Given the description of an element on the screen output the (x, y) to click on. 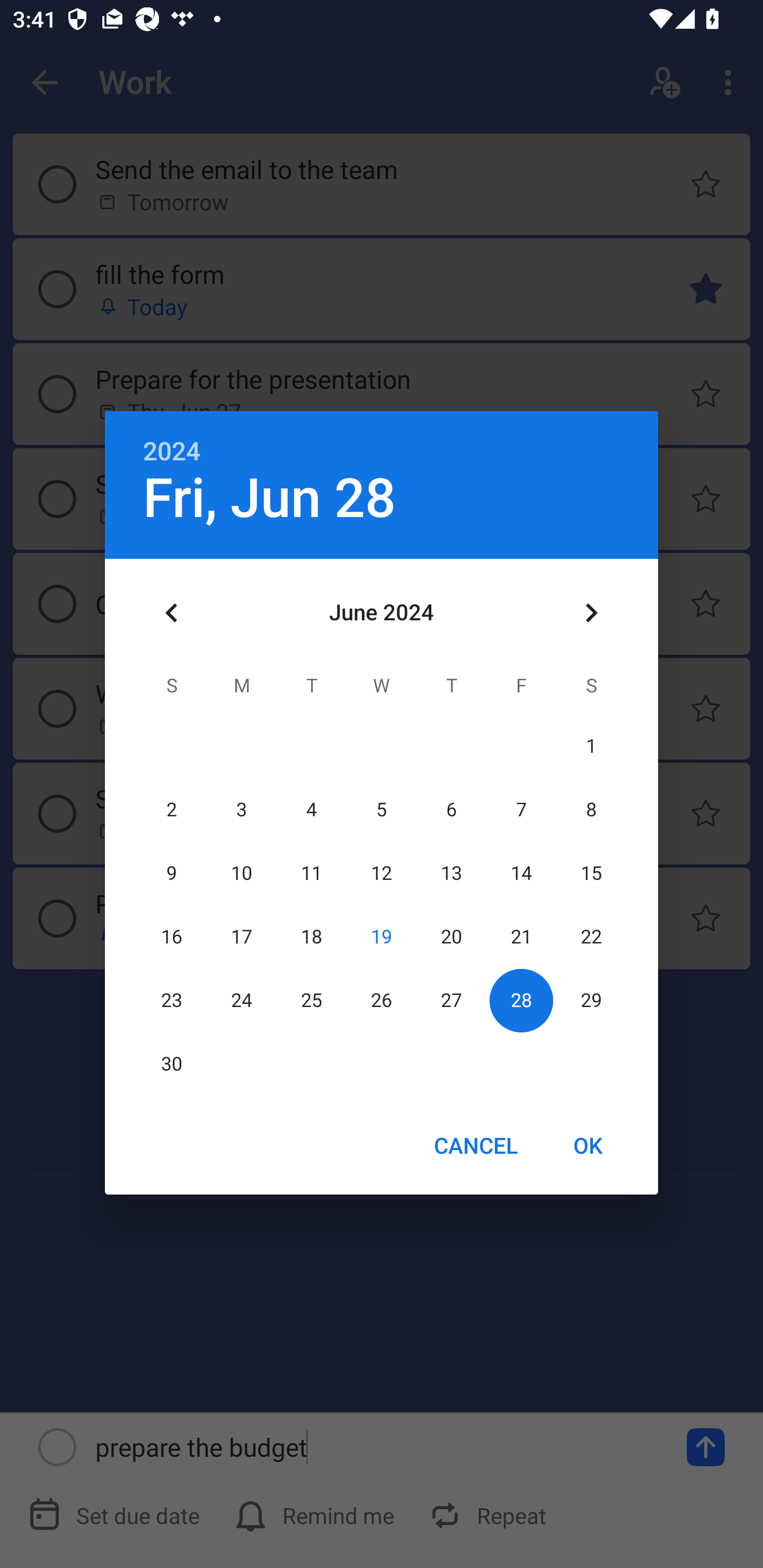
OK (588, 1145)
